Given the description of an element on the screen output the (x, y) to click on. 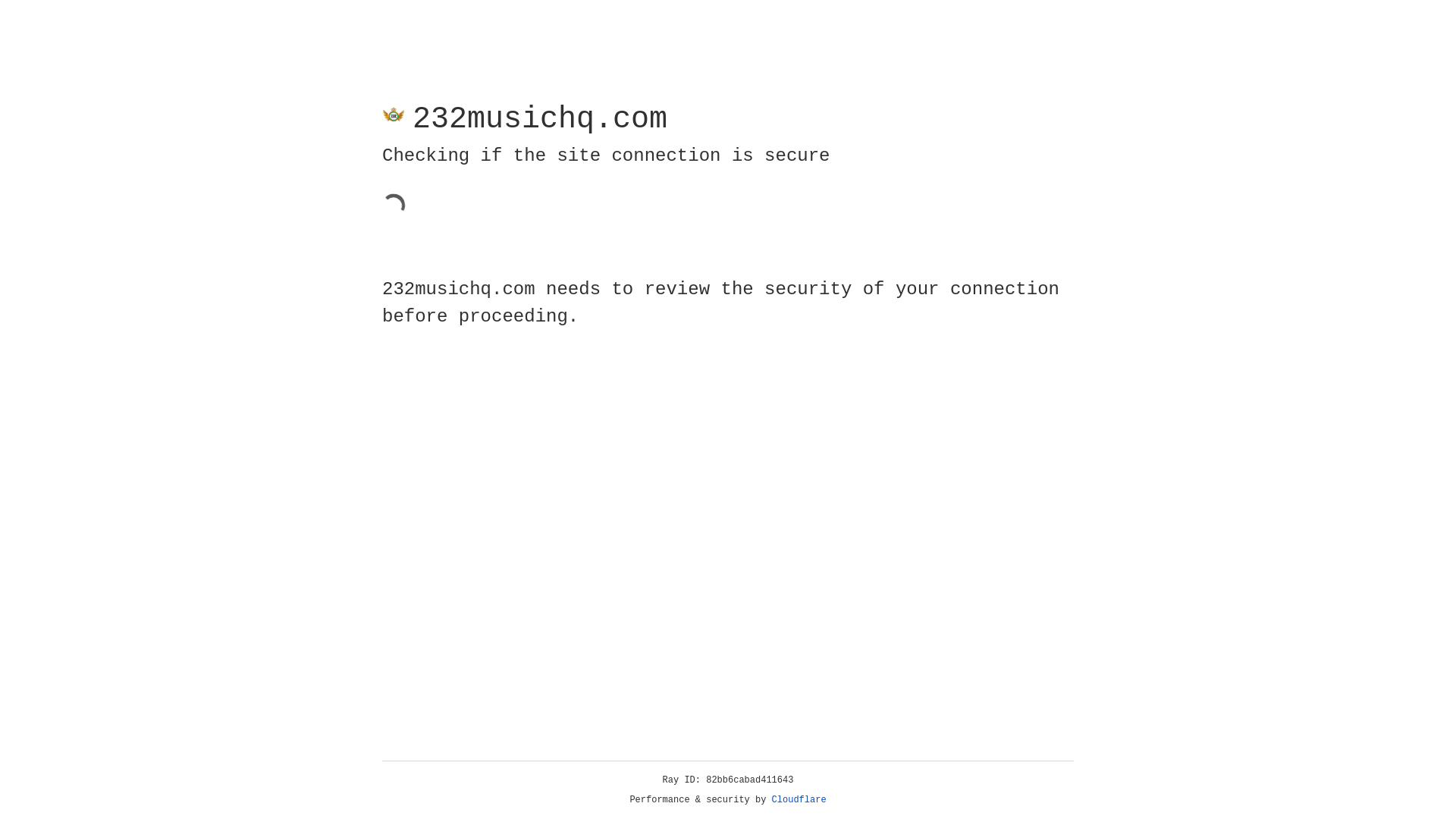
Cloudflare Element type: text (798, 799)
